Given the description of an element on the screen output the (x, y) to click on. 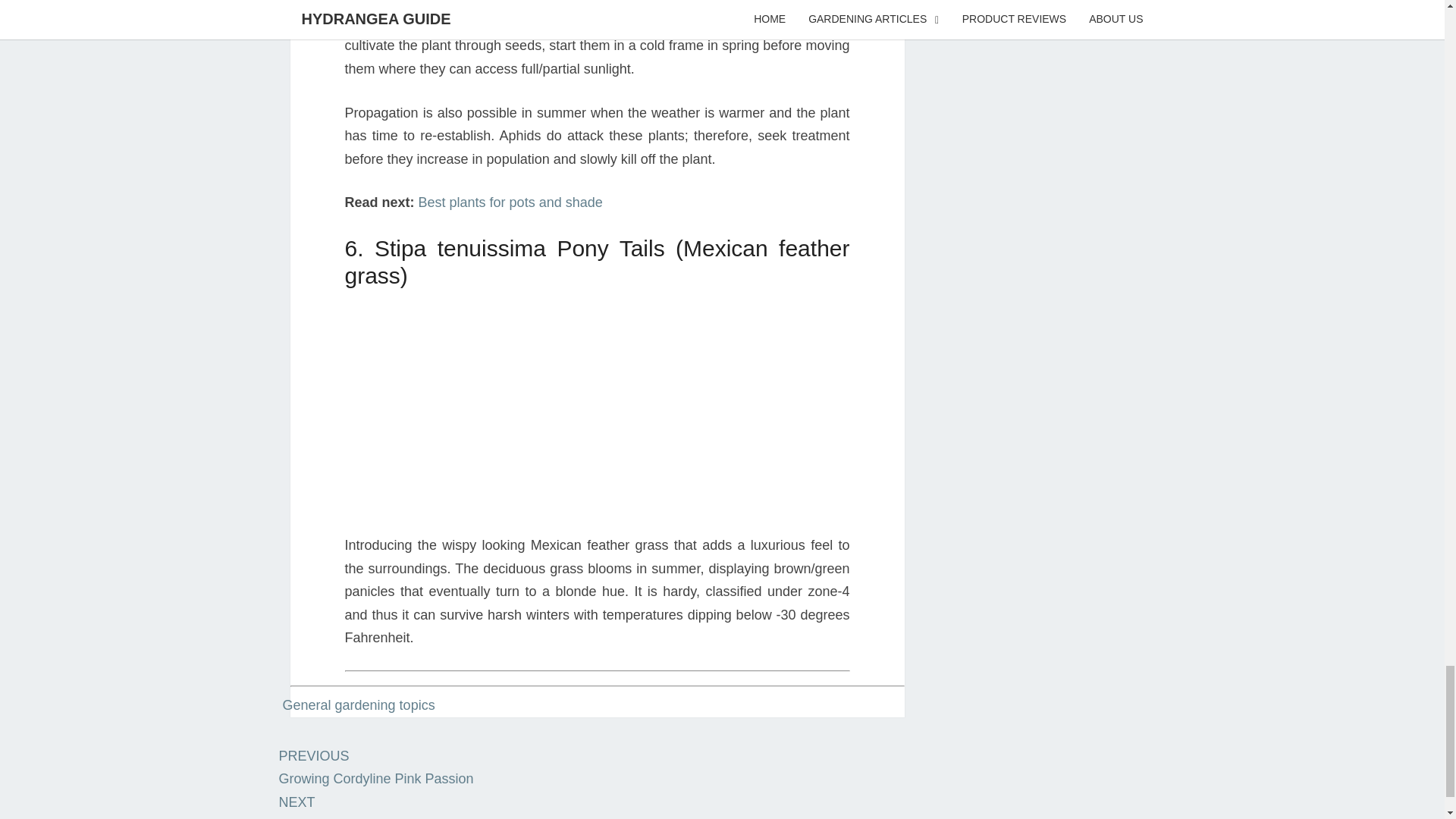
Best plants for pots and shade (510, 201)
General gardening topics (376, 766)
